Given the description of an element on the screen output the (x, y) to click on. 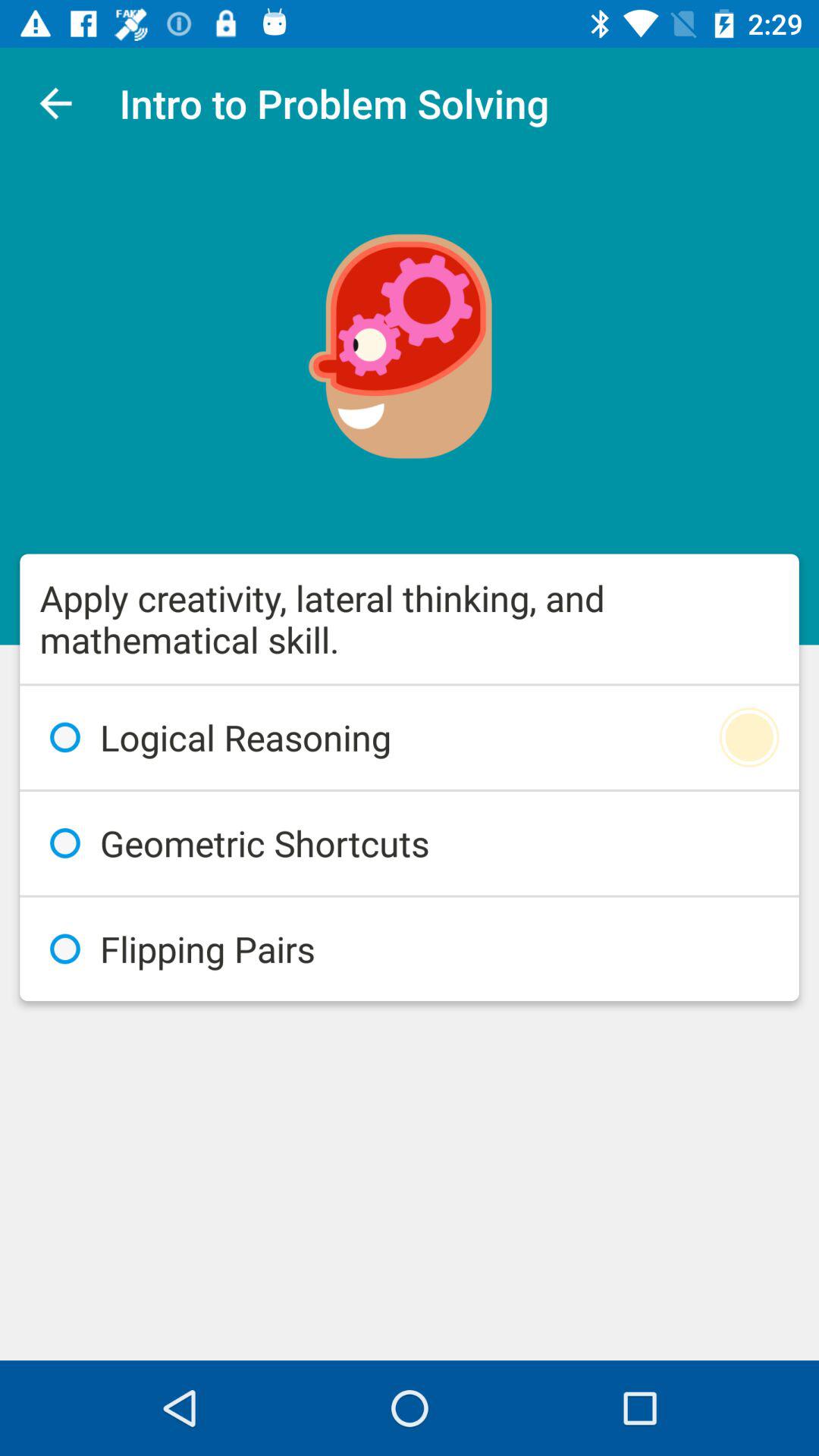
launch the icon above the geometric shortcuts (409, 737)
